Given the description of an element on the screen output the (x, y) to click on. 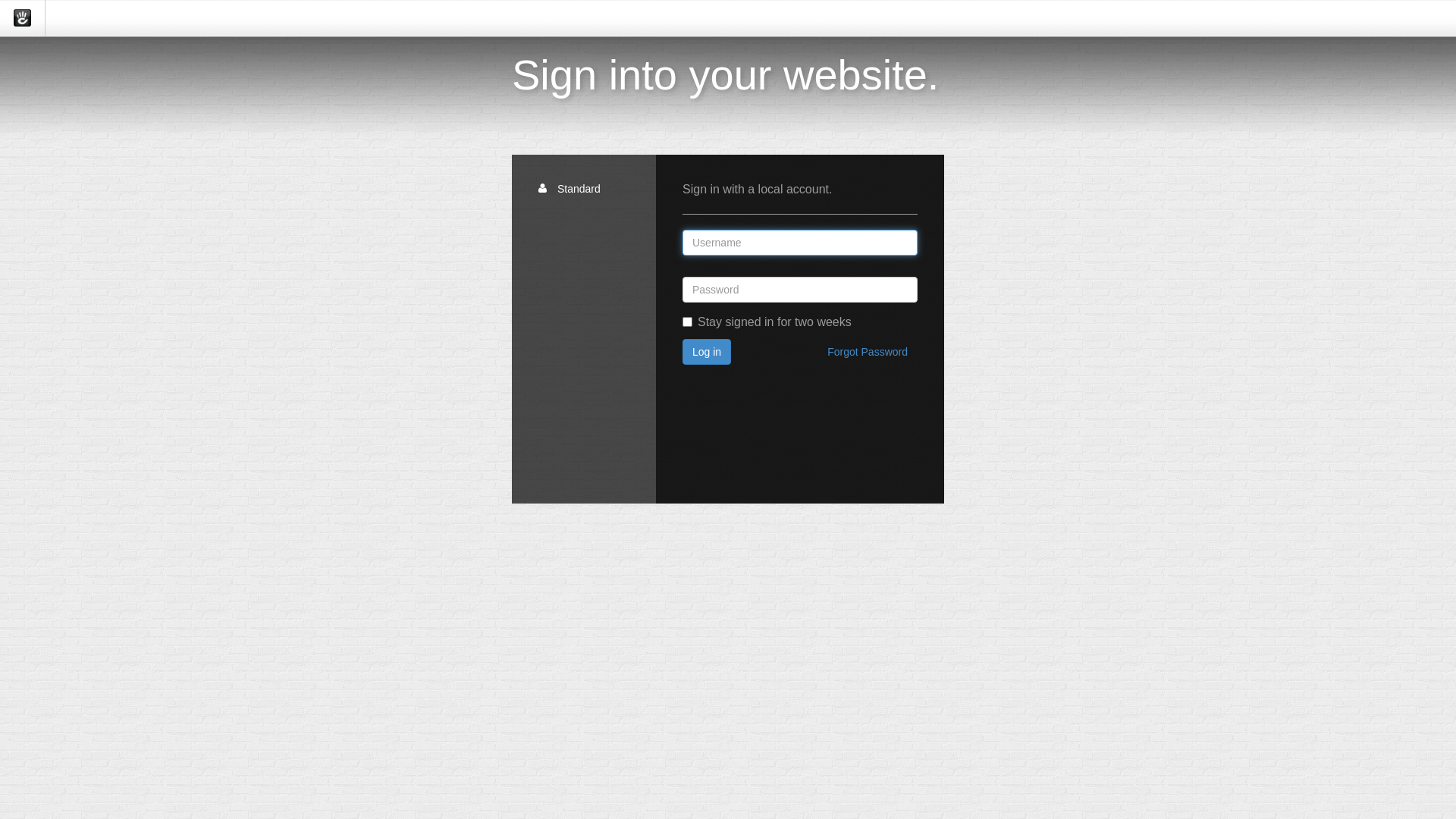
Forgot Password Element type: text (867, 351)
concrete5 Element type: hover (22, 17)
Log in Element type: text (706, 351)
